Given the description of an element on the screen output the (x, y) to click on. 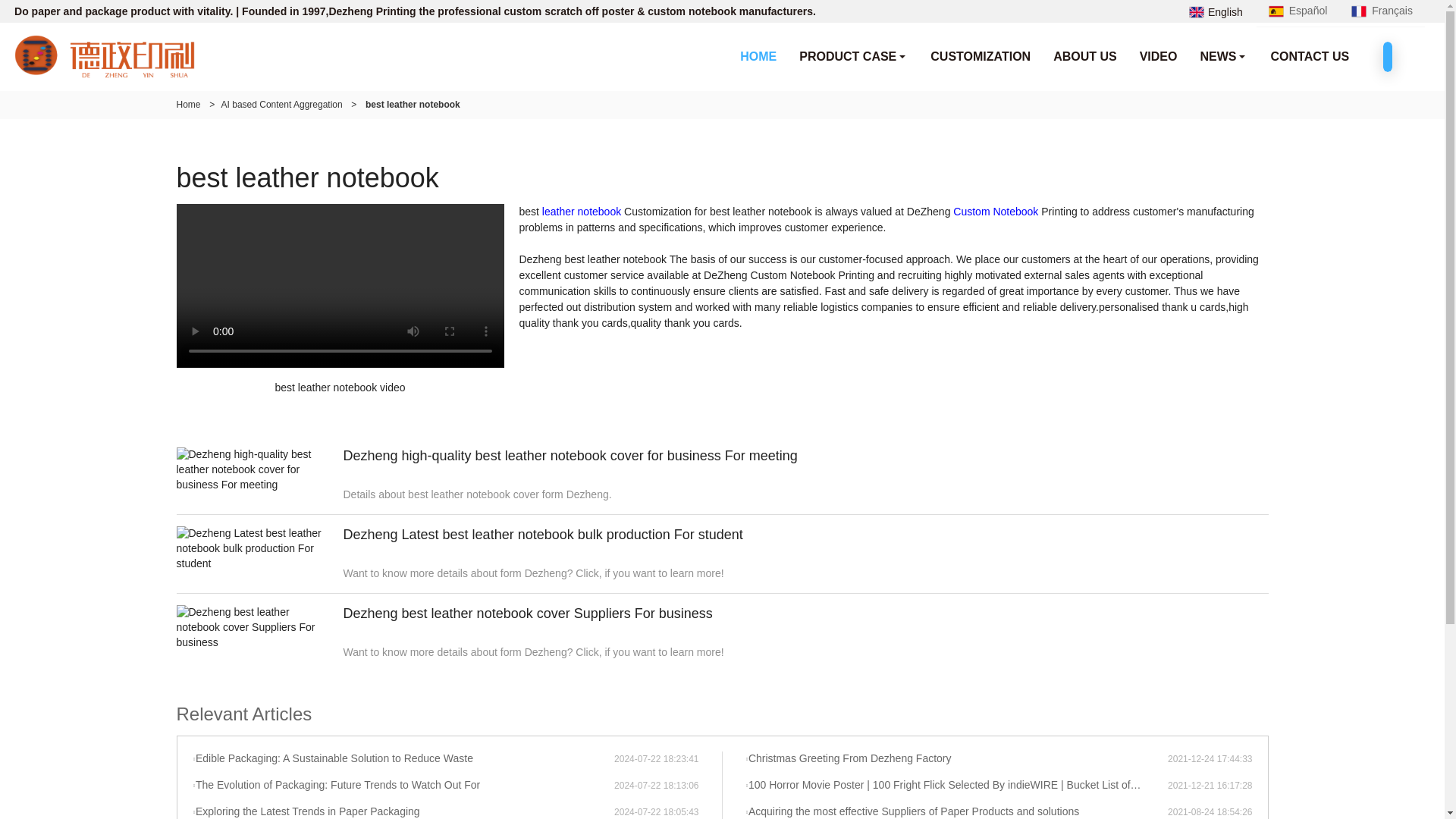
HOME (758, 56)
PRODUCT CASE (852, 56)
